Given the description of an element on the screen output the (x, y) to click on. 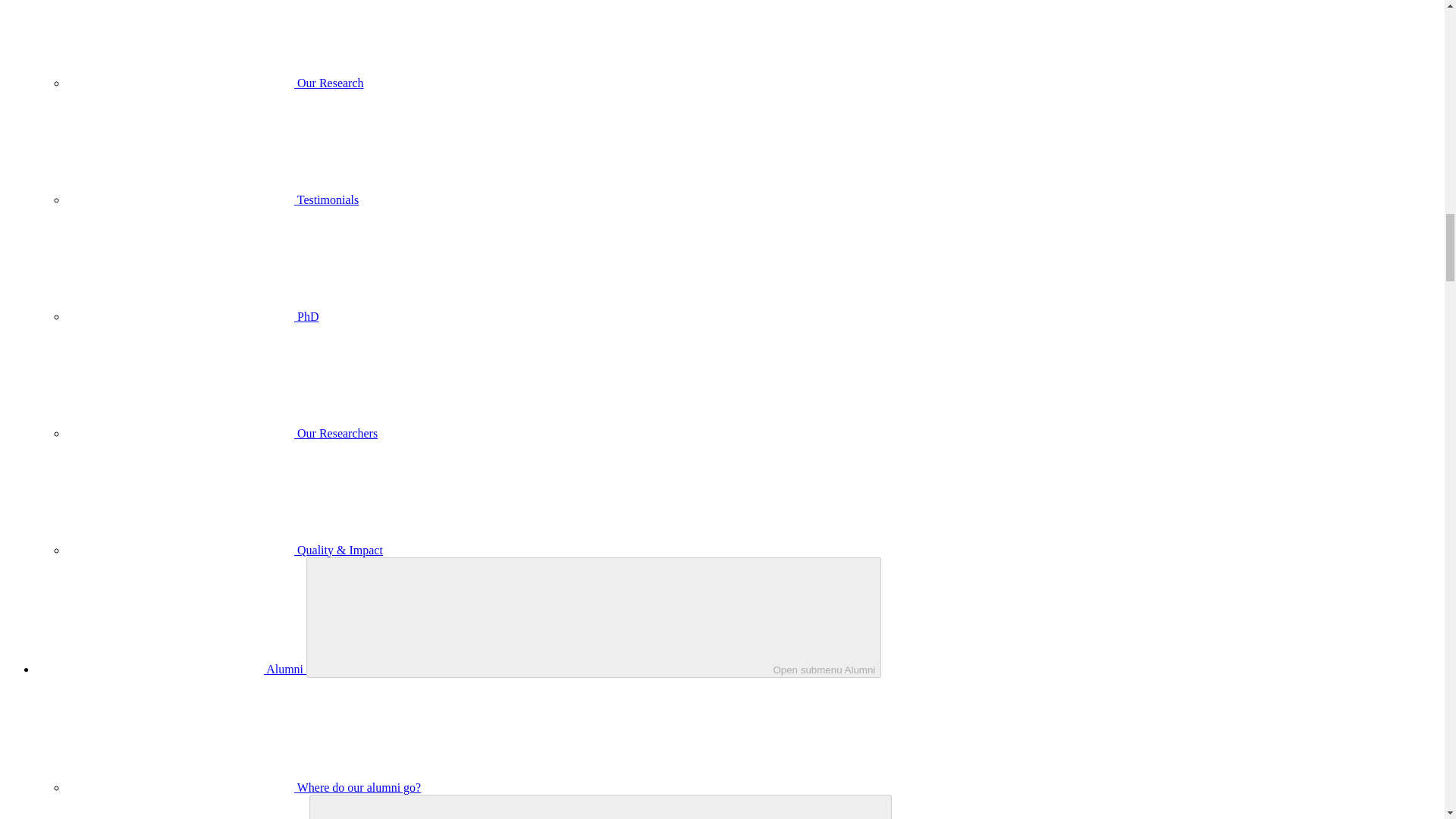
Open submenu Alumni (592, 617)
Our Research (215, 82)
Where do our alumni go? (243, 787)
Our Researchers (221, 432)
Testimonials (212, 199)
PhD (192, 316)
Open submenu Campus (599, 806)
Alumni (170, 668)
